Given the description of an element on the screen output the (x, y) to click on. 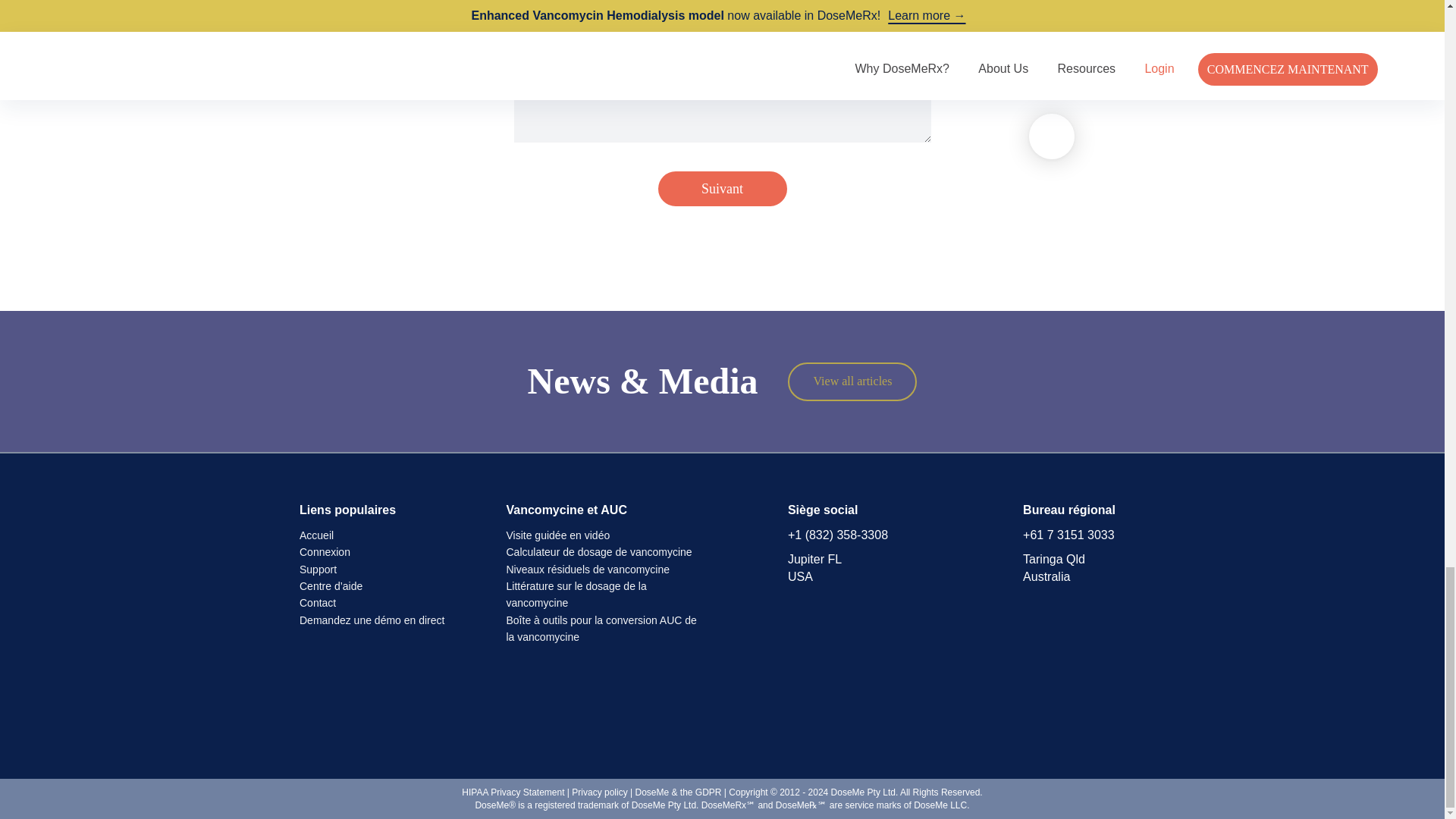
Suivant (722, 188)
